Given the description of an element on the screen output the (x, y) to click on. 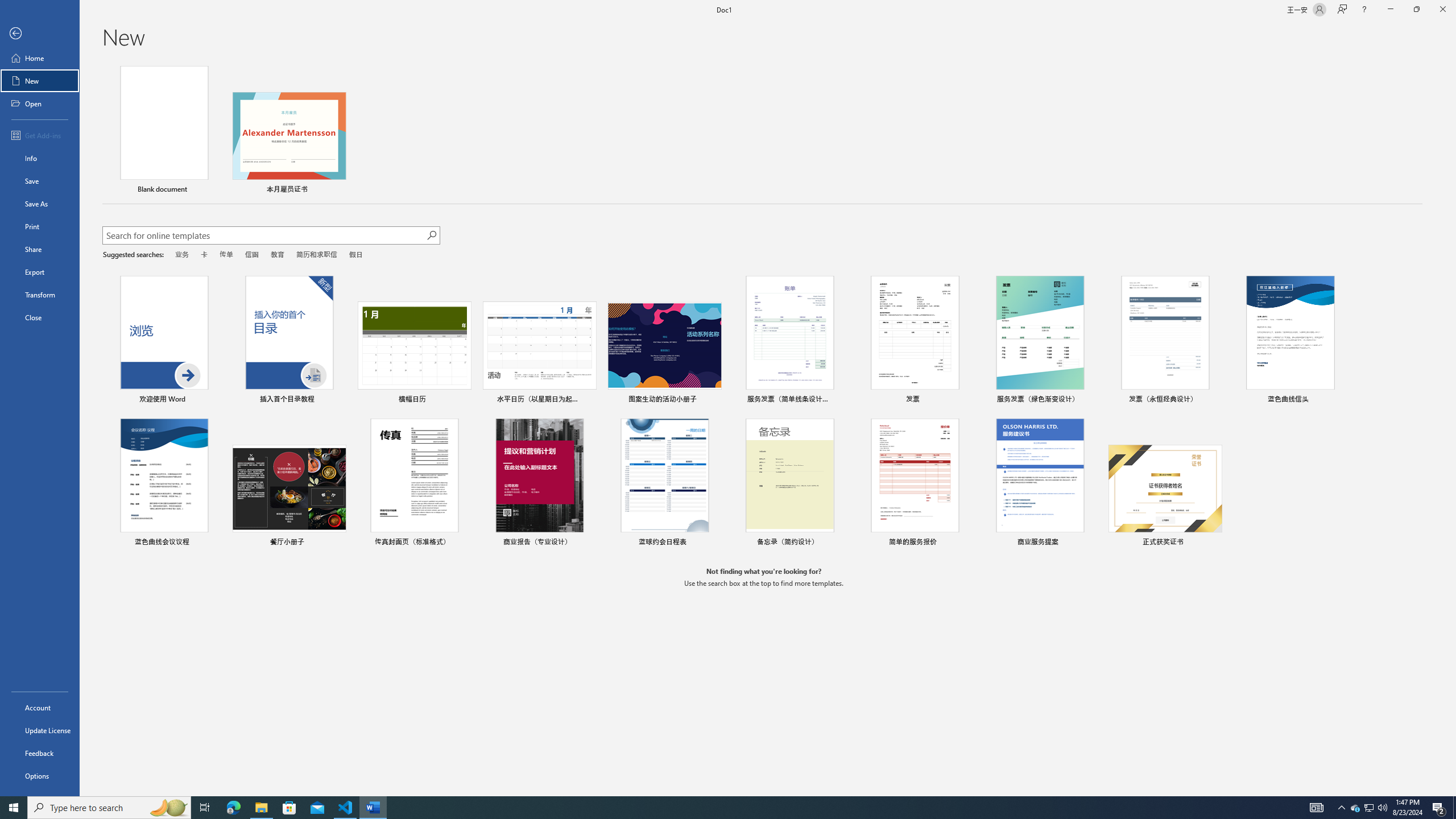
Back (40, 33)
Feedback (40, 753)
Pin to list (1214, 543)
Get Add-ins (40, 134)
Account (40, 707)
